Given the description of an element on the screen output the (x, y) to click on. 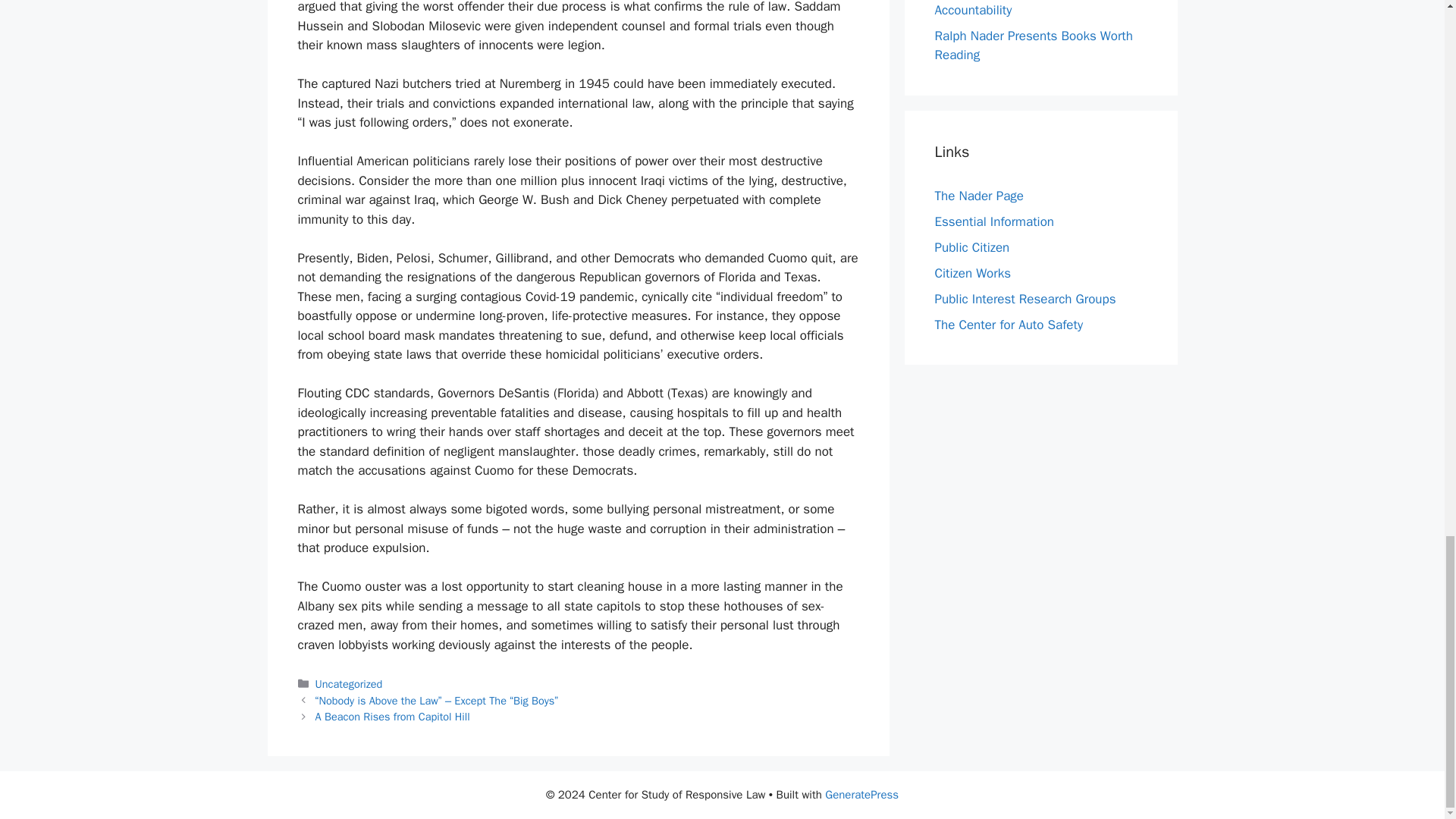
Essential Information (994, 220)
Ralph Nader Presents Books Worth Reading (1033, 45)
The Nader Page (978, 195)
Public Citizen (971, 246)
A Beacon Rises from Capitol Hill (392, 716)
Uncategorized (348, 684)
Citizen Works (972, 272)
